Given the description of an element on the screen output the (x, y) to click on. 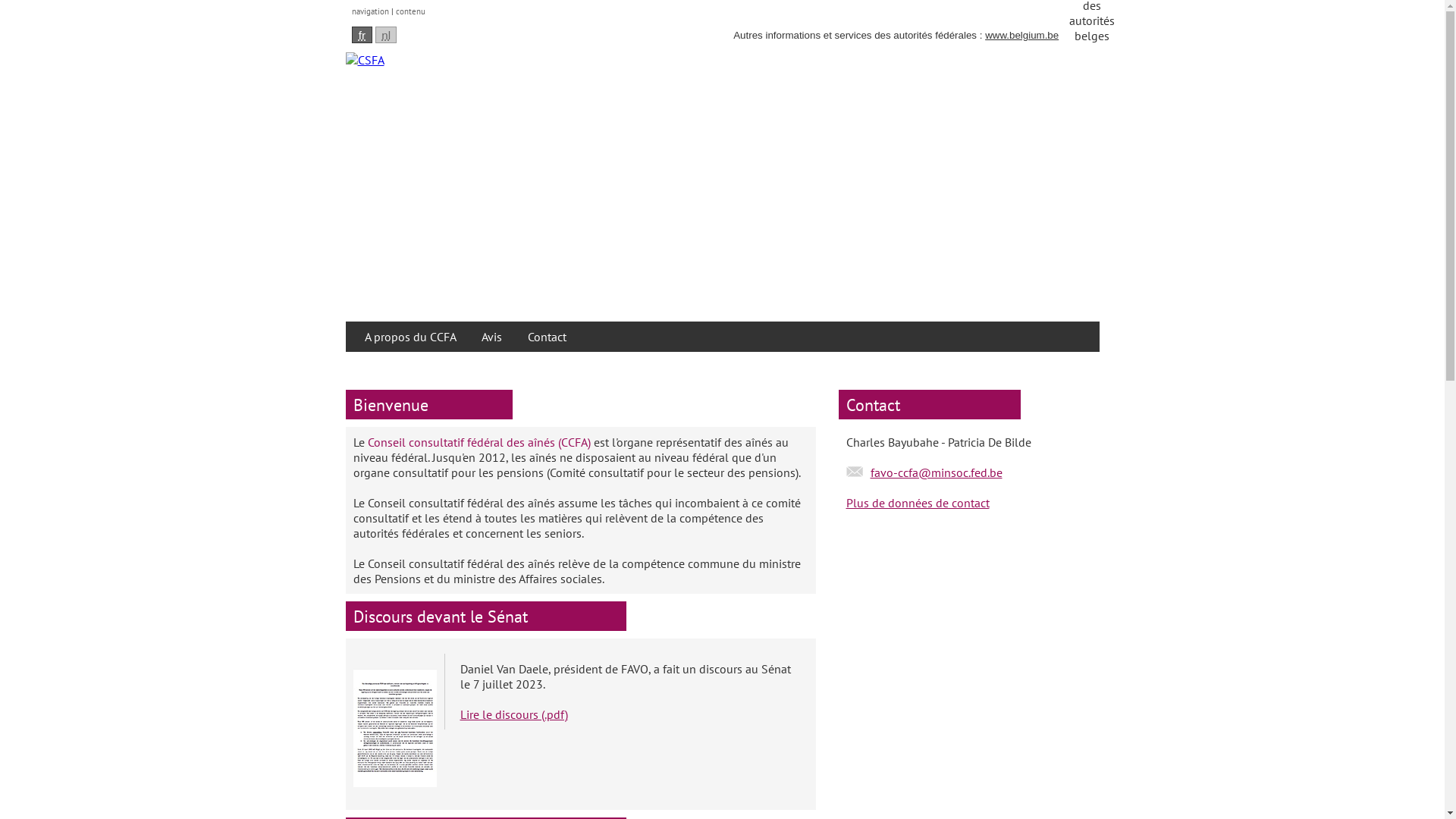
nl Element type: text (385, 34)
Lire le discours (.pdf) Element type: text (513, 713)
navigation Element type: text (370, 11)
contenu Element type: text (410, 11)
A propos du CCFA Element type: text (409, 336)
favo-ccfa@minsoc.fed.be Element type: text (936, 472)
www.belgium.be Element type: text (1021, 34)
Contact Element type: text (546, 336)
Avis Element type: text (490, 336)
